Given the description of an element on the screen output the (x, y) to click on. 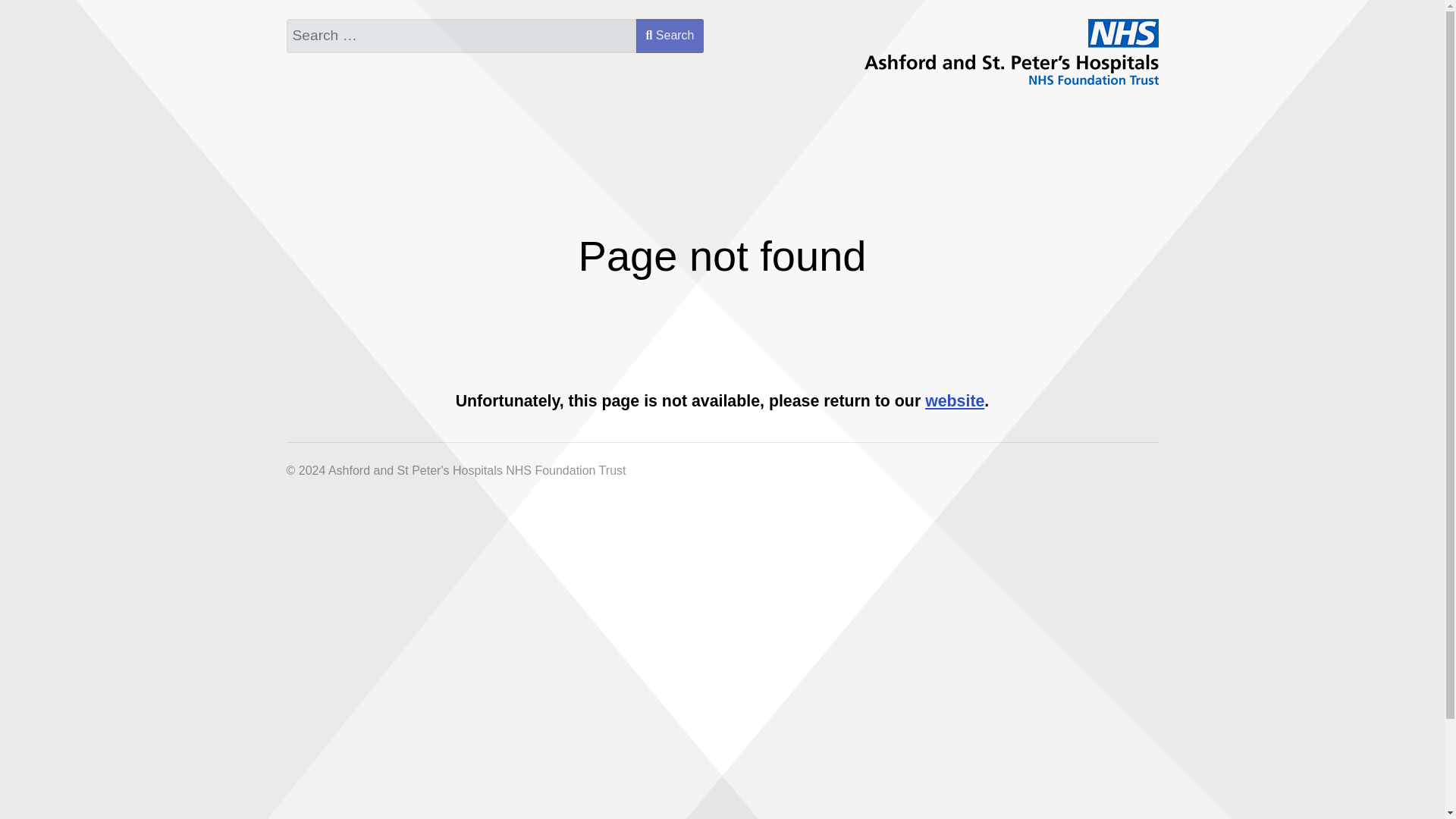
Search (669, 35)
website (954, 401)
